Given the description of an element on the screen output the (x, y) to click on. 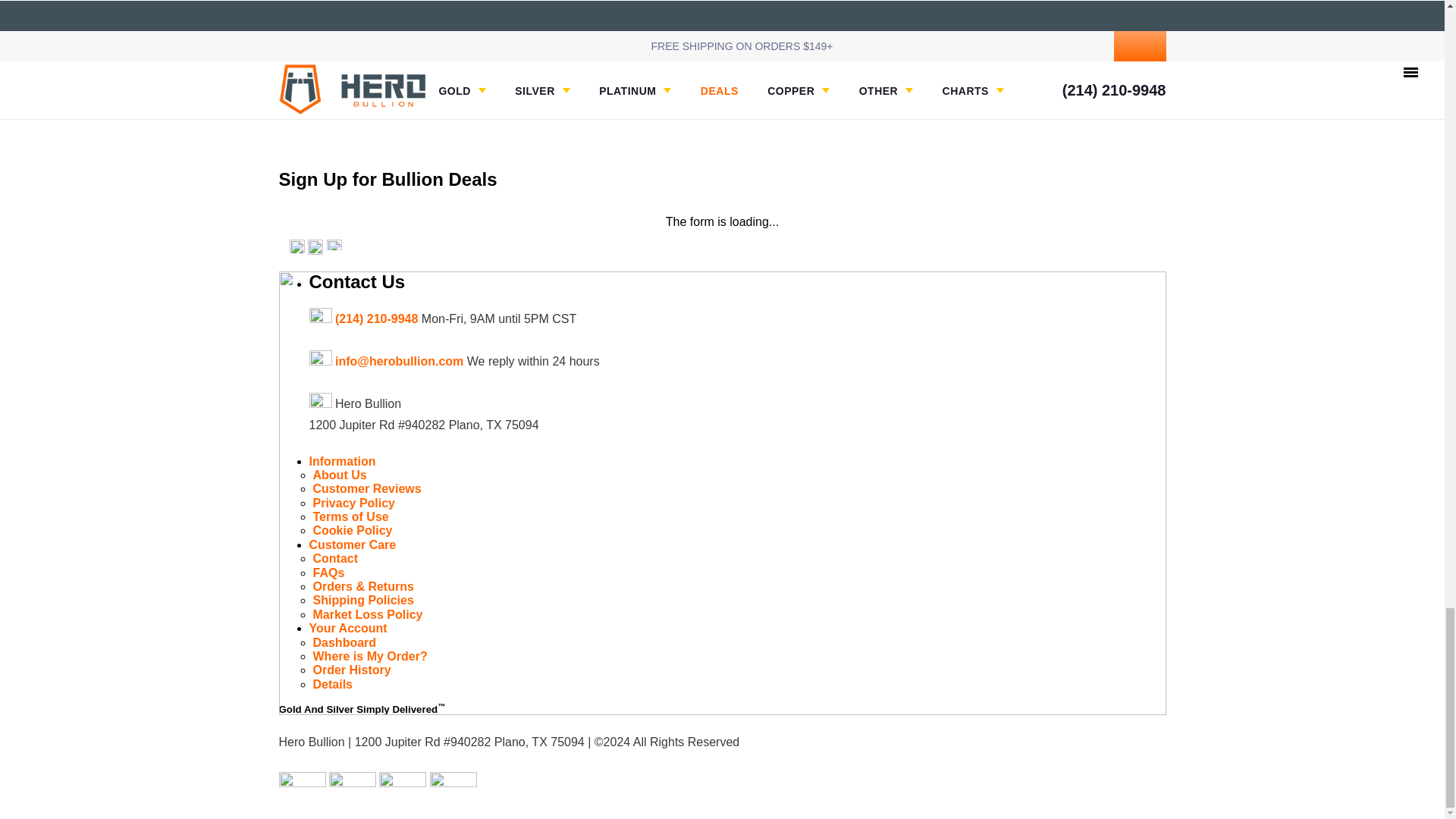
1 (1051, 2)
1 (509, 2)
